Given the description of an element on the screen output the (x, y) to click on. 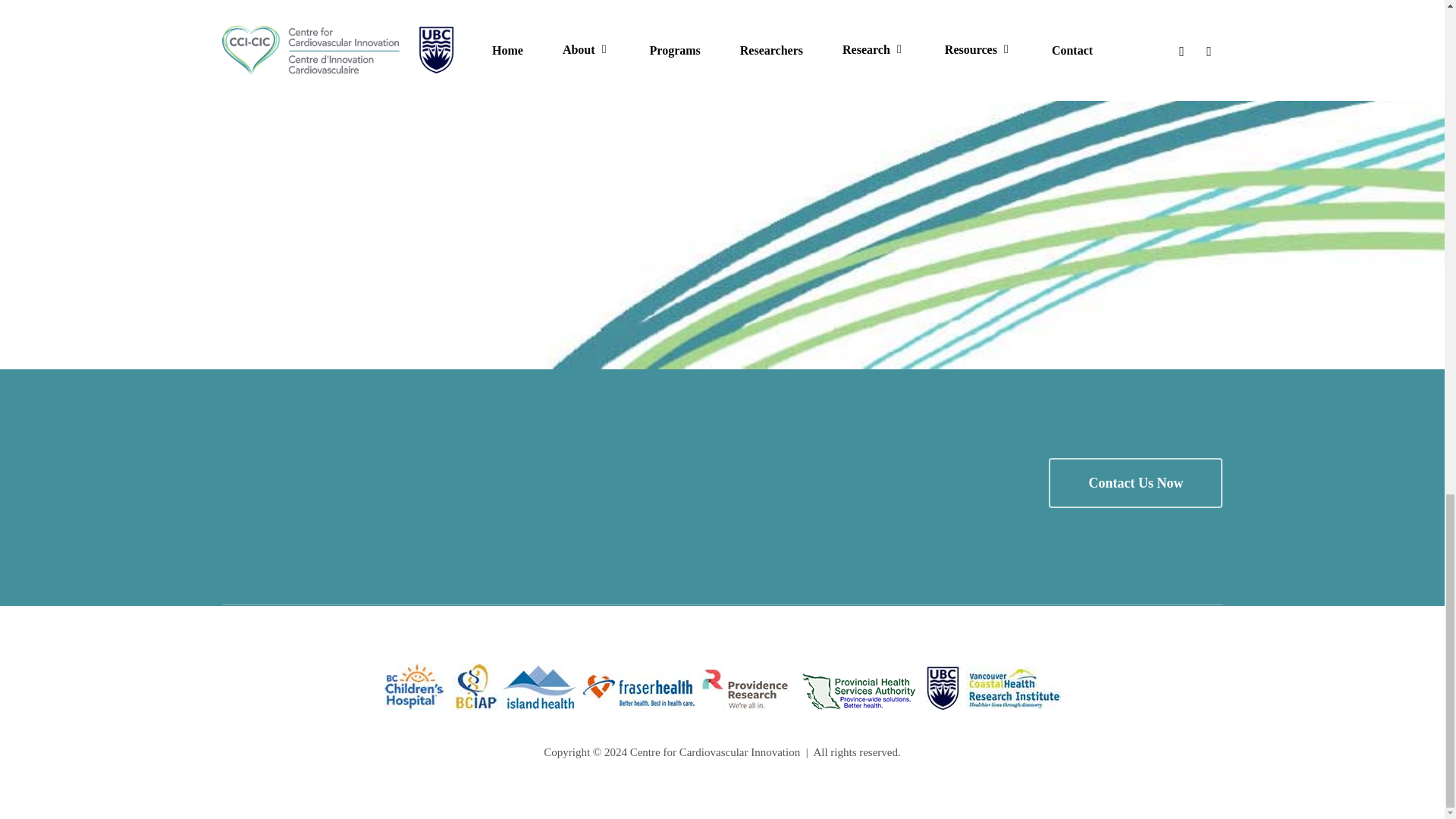
Contact Us Now (1135, 482)
